Given the description of an element on the screen output the (x, y) to click on. 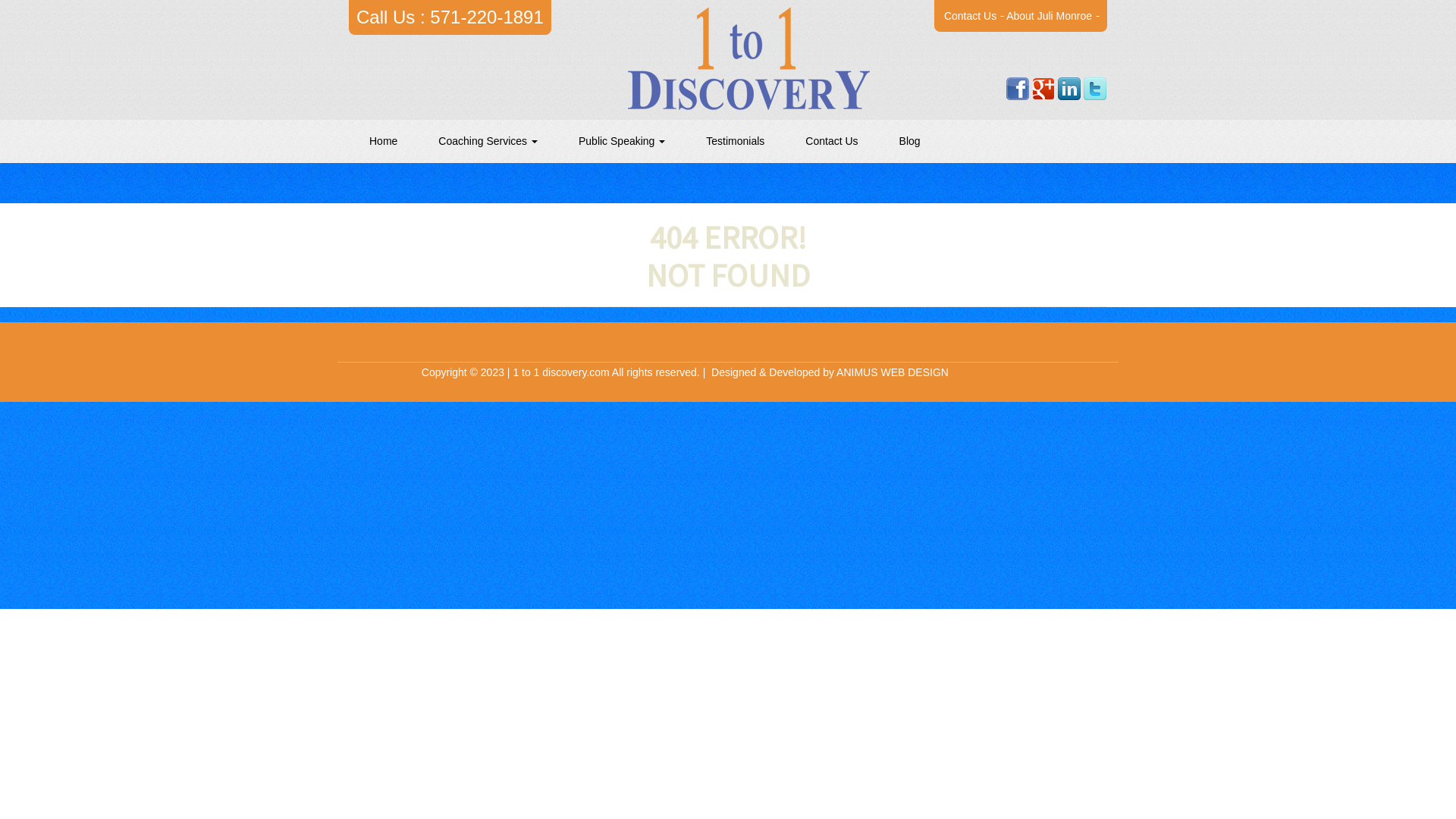
Testimonials Element type: text (734, 140)
Public Speaking Element type: text (621, 140)
Blog Element type: text (909, 140)
1 to 1 discovery.com Element type: text (560, 372)
Home Element type: text (382, 140)
Contact Us Element type: text (970, 15)
Coaching Services Element type: text (487, 140)
ANIMUS WEB DESIGN Element type: text (892, 372)
Contact Us Element type: text (831, 140)
About Juli Monroe Element type: text (1049, 15)
